Given the description of an element on the screen output the (x, y) to click on. 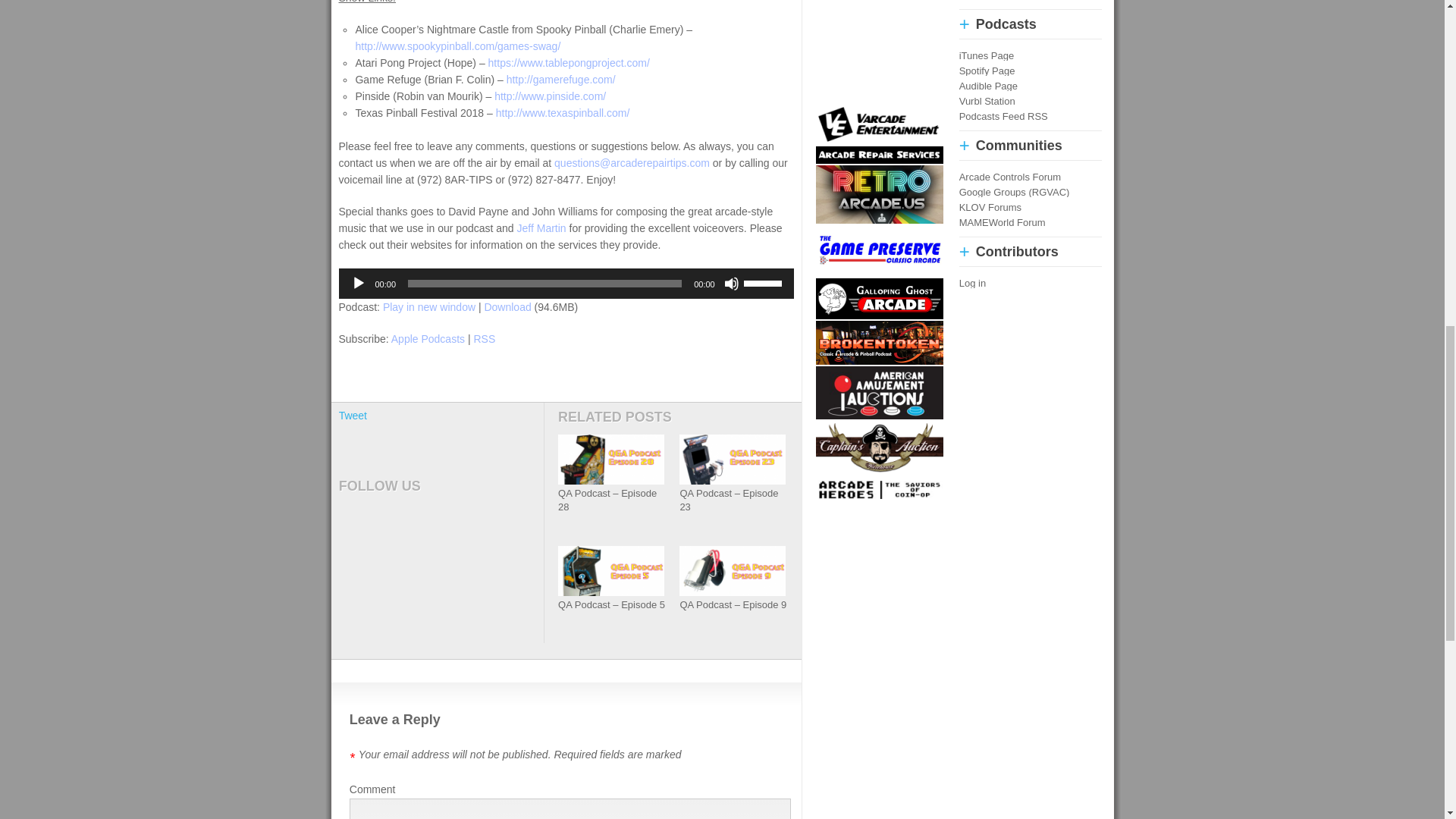
Apple Podcasts (427, 338)
Advertisement (876, 50)
Play (357, 283)
Subscribe on Apple Podcasts (427, 338)
Mute (731, 283)
Subscribe via RSS (484, 338)
Tweet (352, 415)
Jeff Martin (541, 227)
Download (507, 306)
RSS (484, 338)
Play in new window (429, 306)
Play in new window (429, 306)
Download (507, 306)
